Given the description of an element on the screen output the (x, y) to click on. 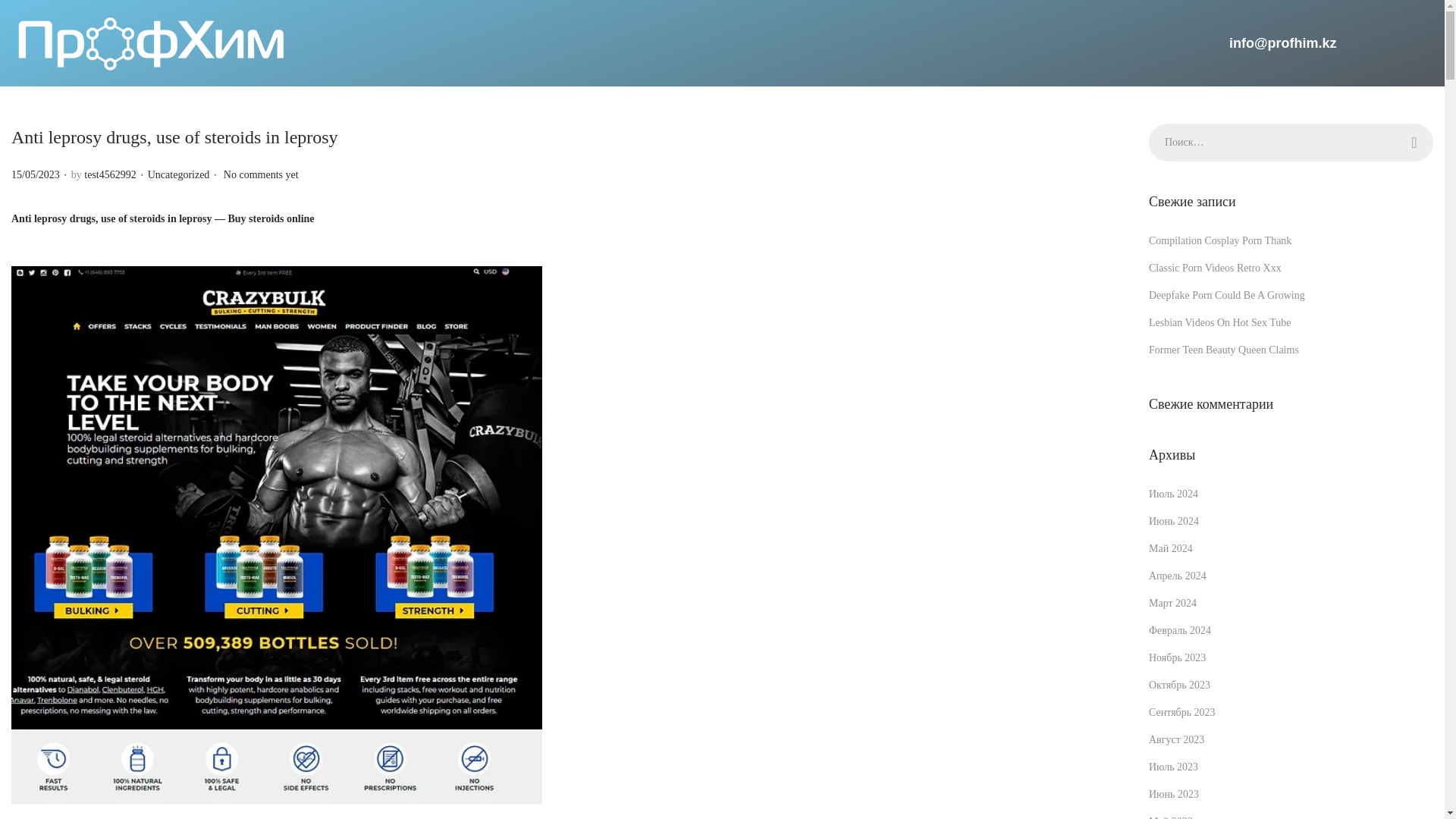
Deepfake Porn Could Be A Growing (1226, 295)
test4562992 (109, 174)
Compilation Cosplay Porn Thank (1219, 240)
Lesbian Videos On Hot Sex Tube (1219, 322)
Uncategorized (178, 174)
No comments yet (261, 174)
Former Teen Beauty Queen Claims (1223, 349)
Classic Porn Videos Retro Xxx (1214, 267)
Anti leprosy drugs, use of steroids in leprosy (174, 137)
